Given the description of an element on the screen output the (x, y) to click on. 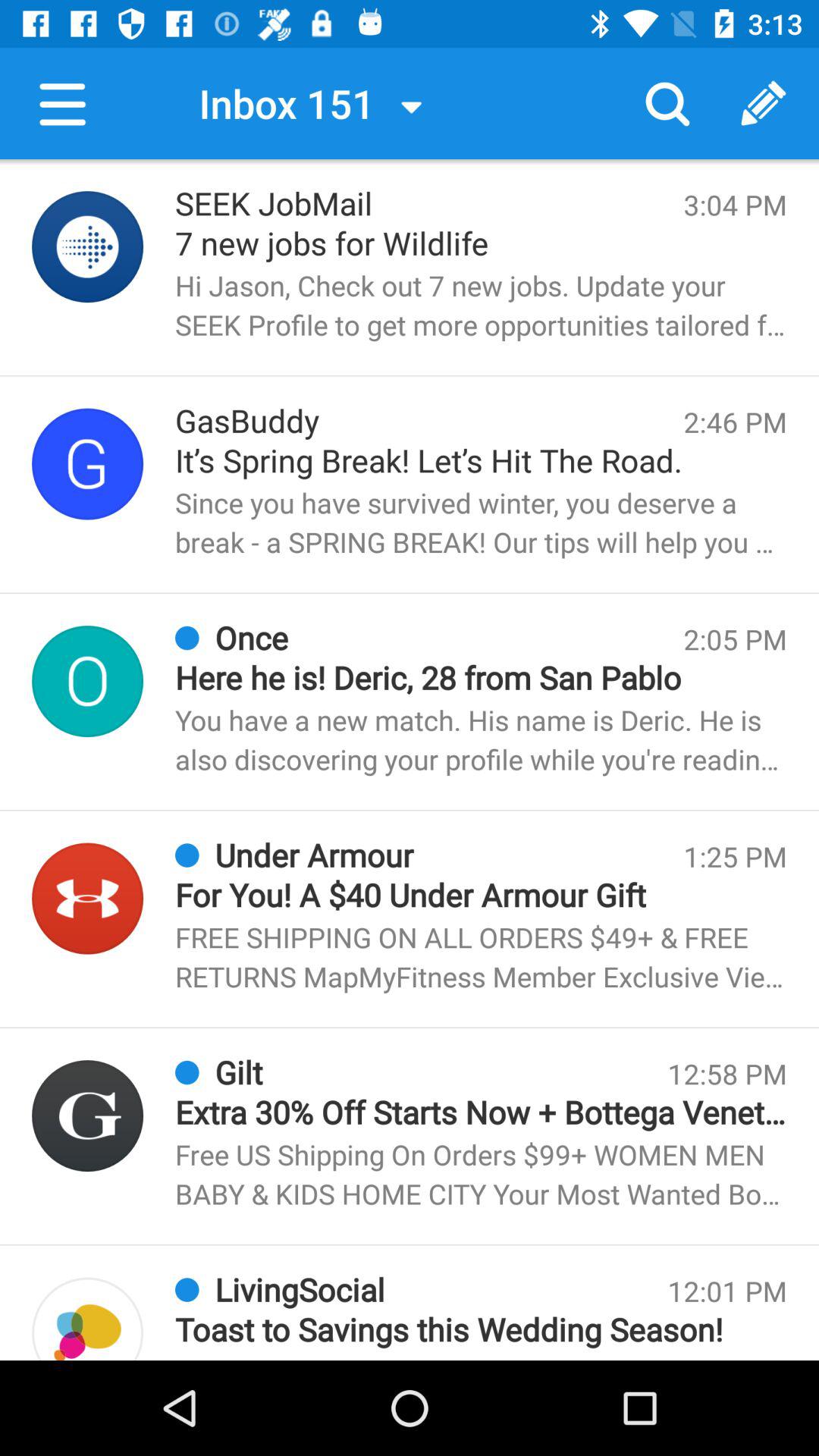
logo (87, 463)
